Given the description of an element on the screen output the (x, y) to click on. 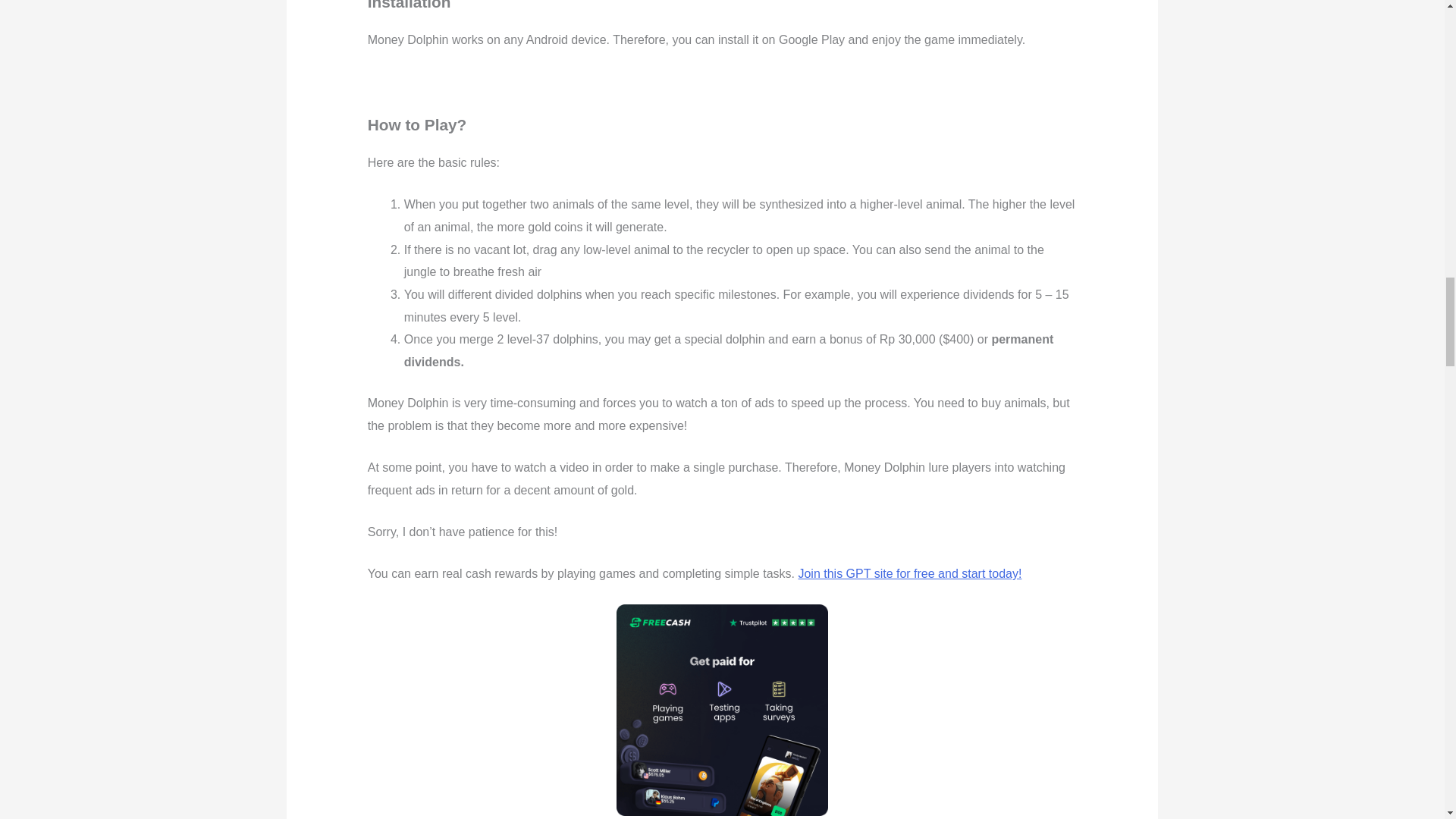
Join this GPT site for free and start today! (909, 573)
